Given the description of an element on the screen output the (x, y) to click on. 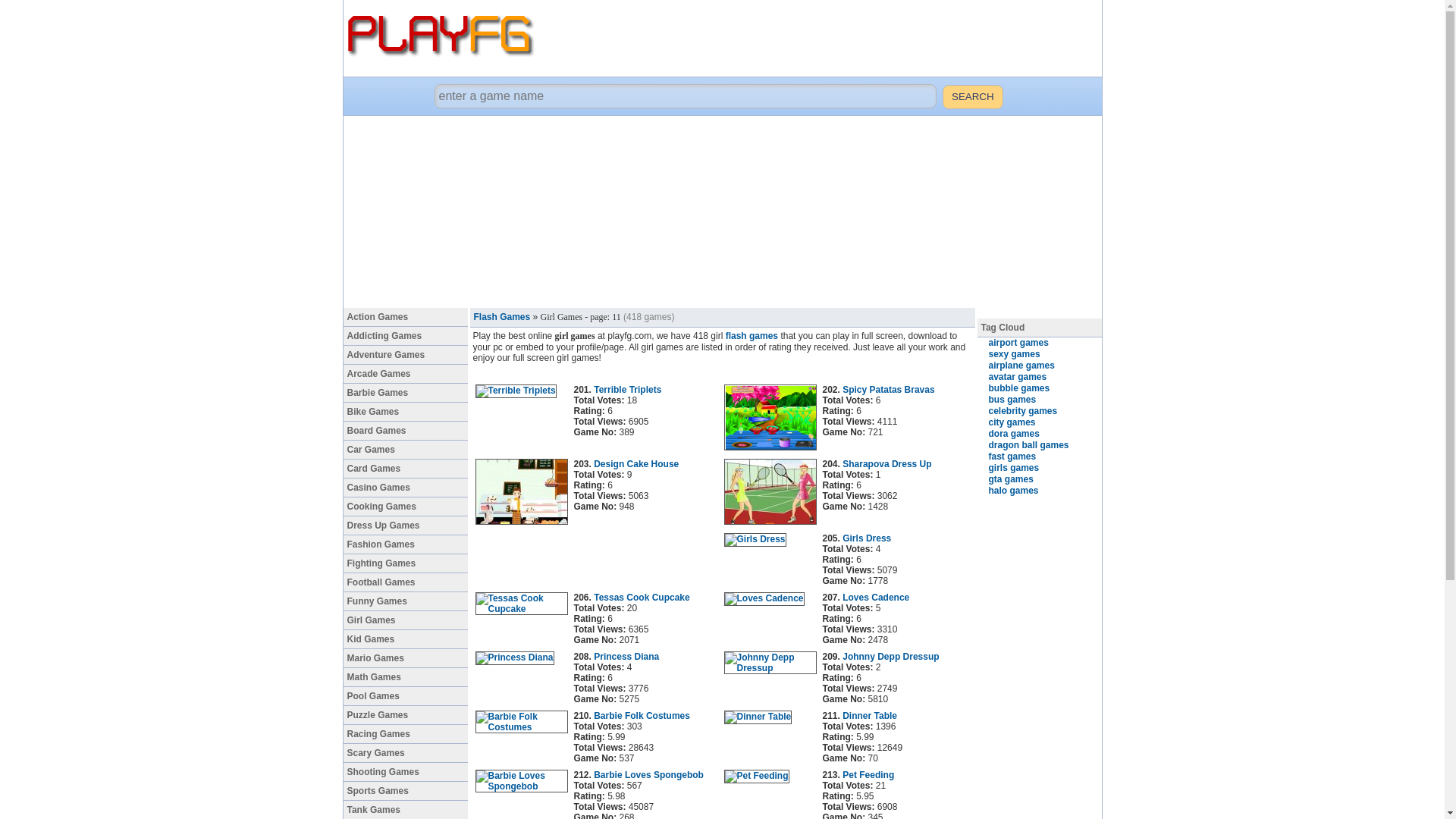
Board Games (404, 430)
Pool Games (404, 696)
Racing Games (404, 733)
Card Games (404, 468)
Math Games (404, 677)
Girl Games (404, 619)
Tank Games (404, 809)
Sports Games (404, 791)
Bike Games (404, 411)
Shooting Games (404, 772)
SEARCH (972, 96)
Mario Games (404, 658)
Fighting Games (404, 563)
Fashion Games (404, 544)
Puzzle Games (404, 714)
